Given the description of an element on the screen output the (x, y) to click on. 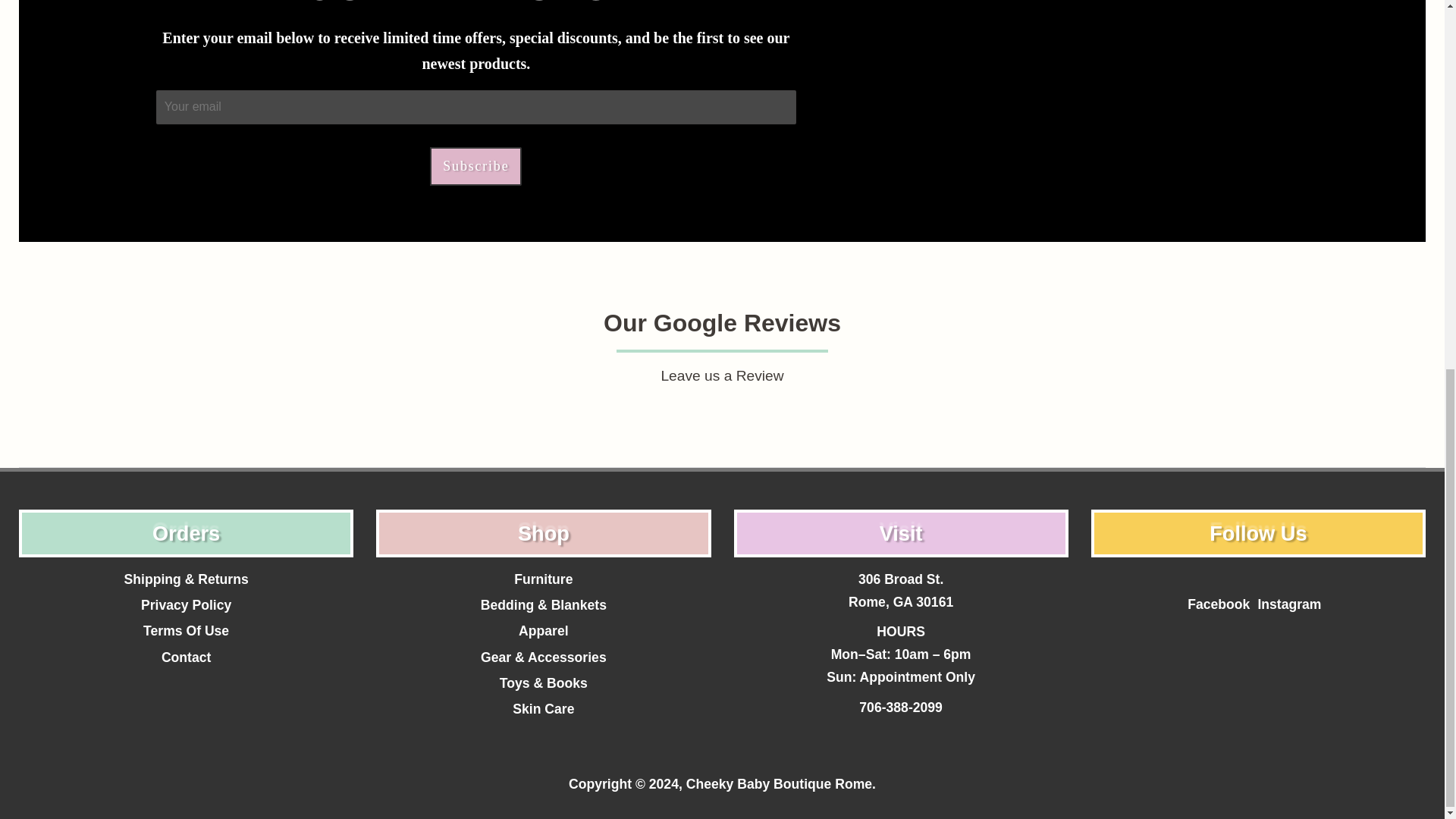
Terms Of Use (185, 630)
Contact (186, 657)
Subscribe (475, 166)
Apparel (543, 630)
Cheeky Baby Boutique Rome on Facebook (1218, 604)
Leave us a Review (721, 376)
Cheeky Baby Boutique Rome on Instagram (1288, 604)
Facebook (1218, 604)
Instagram (1288, 604)
Furniture (542, 579)
Cheeky Baby Boutique Rome (778, 783)
Privacy Policy (186, 604)
Skin Care (542, 708)
